Given the description of an element on the screen output the (x, y) to click on. 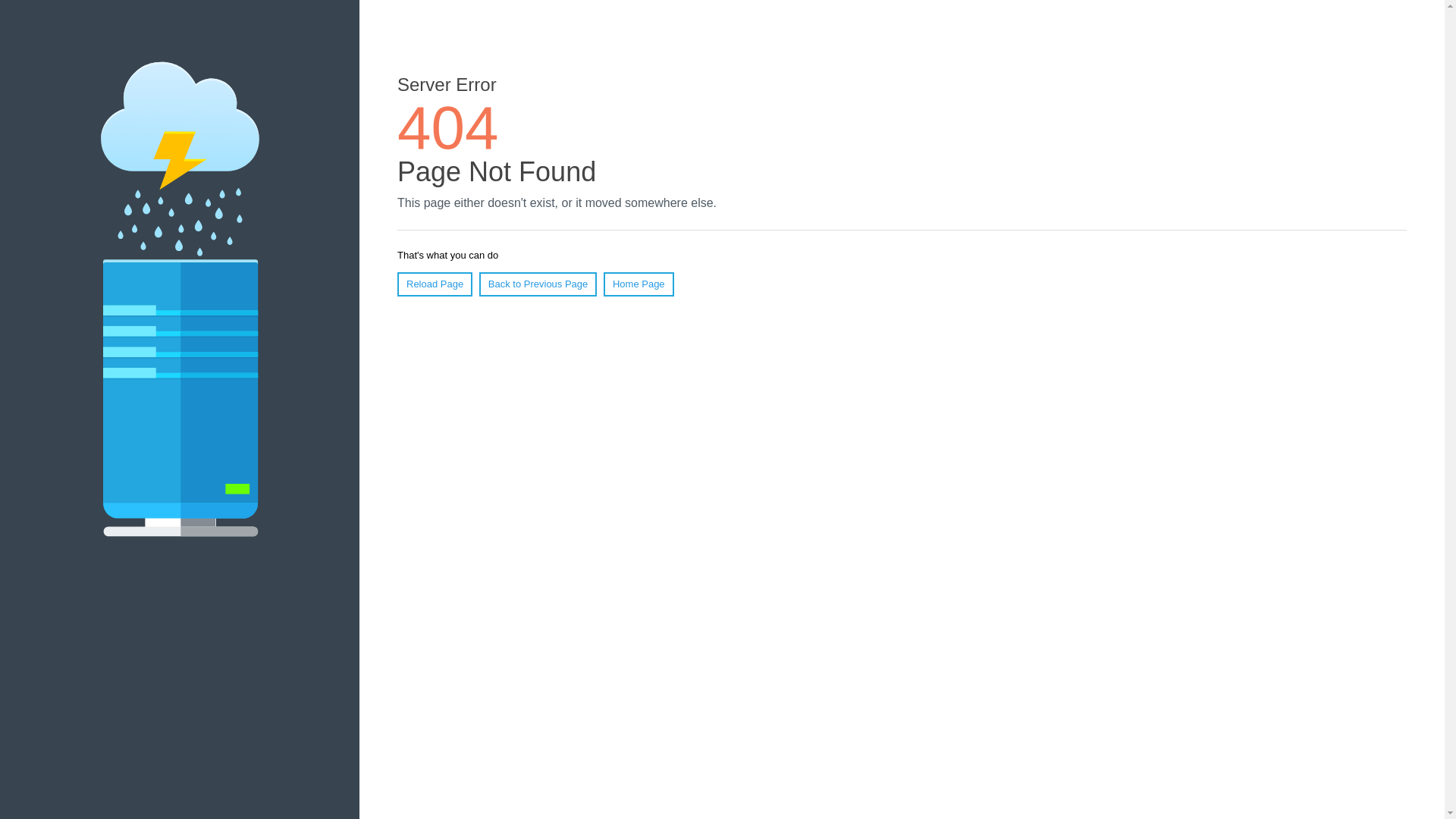
Reload Page Element type: text (434, 284)
Home Page Element type: text (638, 284)
Back to Previous Page Element type: text (538, 284)
